Given the description of an element on the screen output the (x, y) to click on. 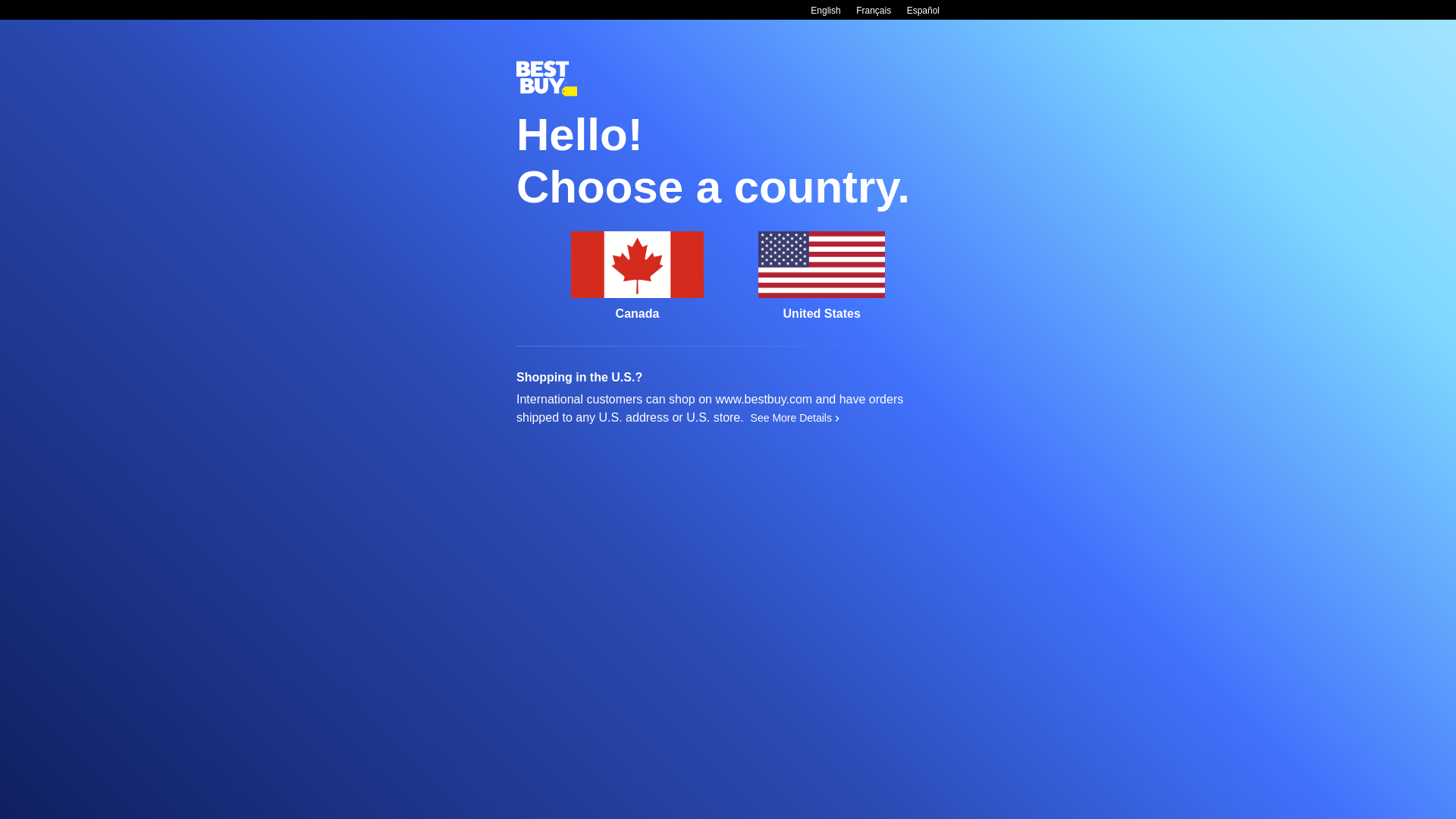
United States (821, 275)
See More Details (795, 417)
English (825, 10)
Canada (637, 275)
